Given the description of an element on the screen output the (x, y) to click on. 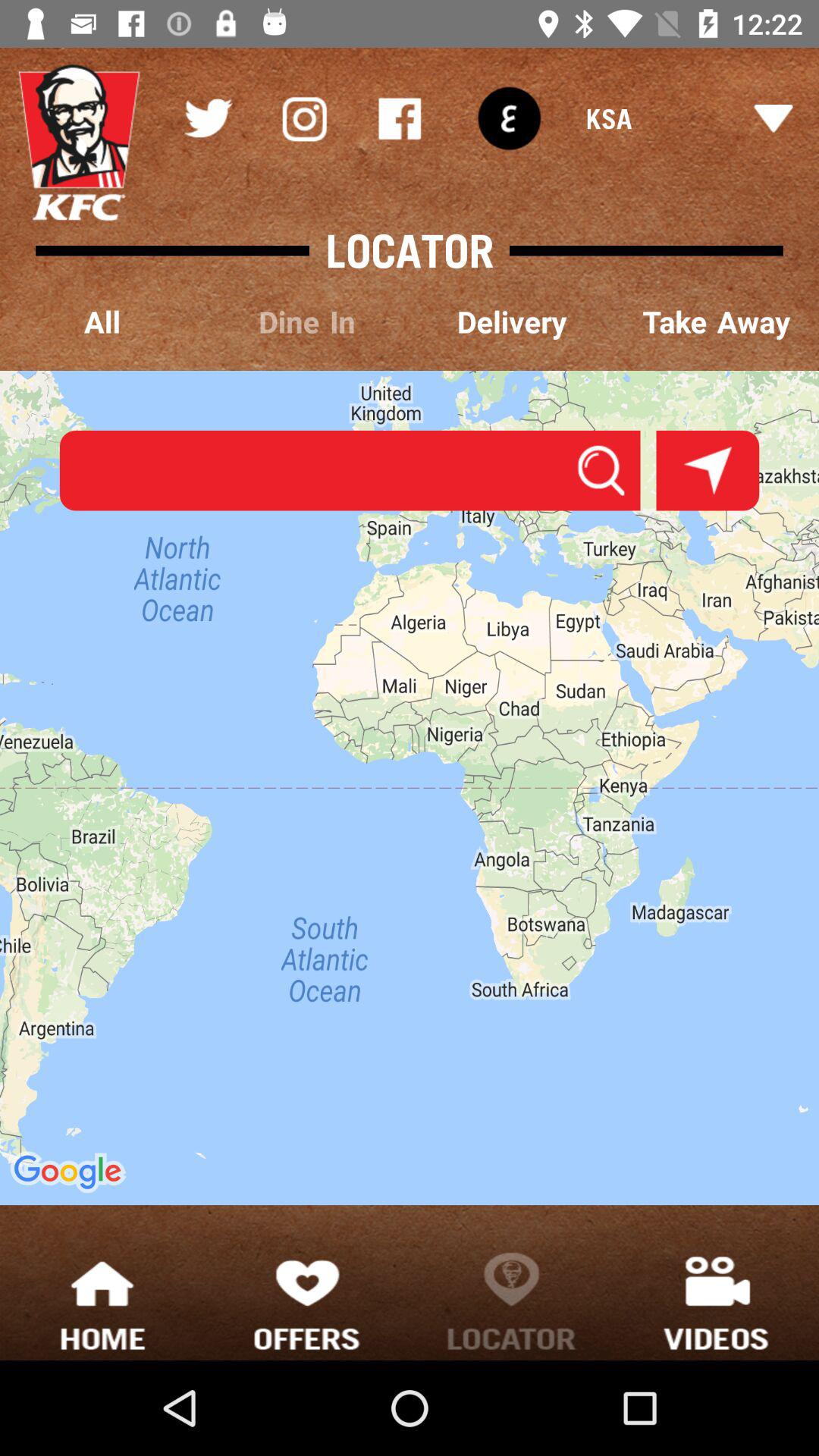
open icon to the left of delivery item (306, 322)
